Given the description of an element on the screen output the (x, y) to click on. 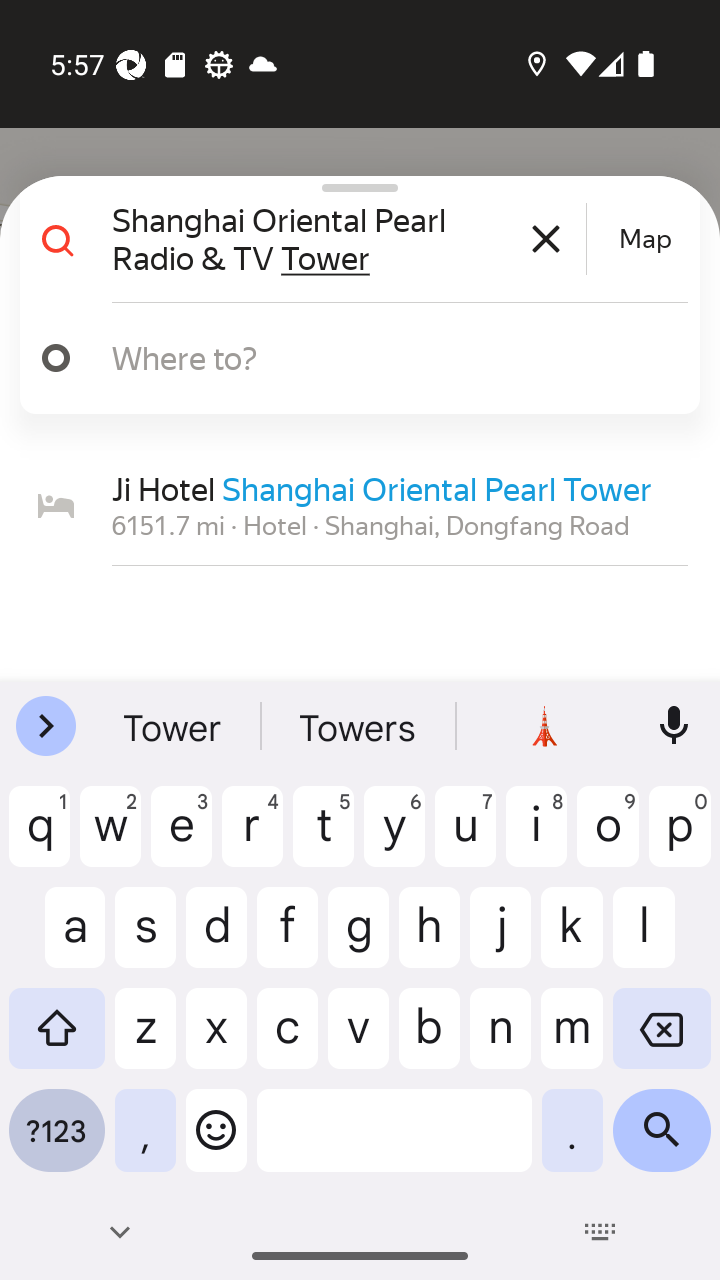
Map (645, 239)
Clear text box (546, 238)
Shanghai Oriental Pearl Radio & TV Tower (346, 238)
Where to? (352, 357)
Where to? (373, 357)
